Given the description of an element on the screen output the (x, y) to click on. 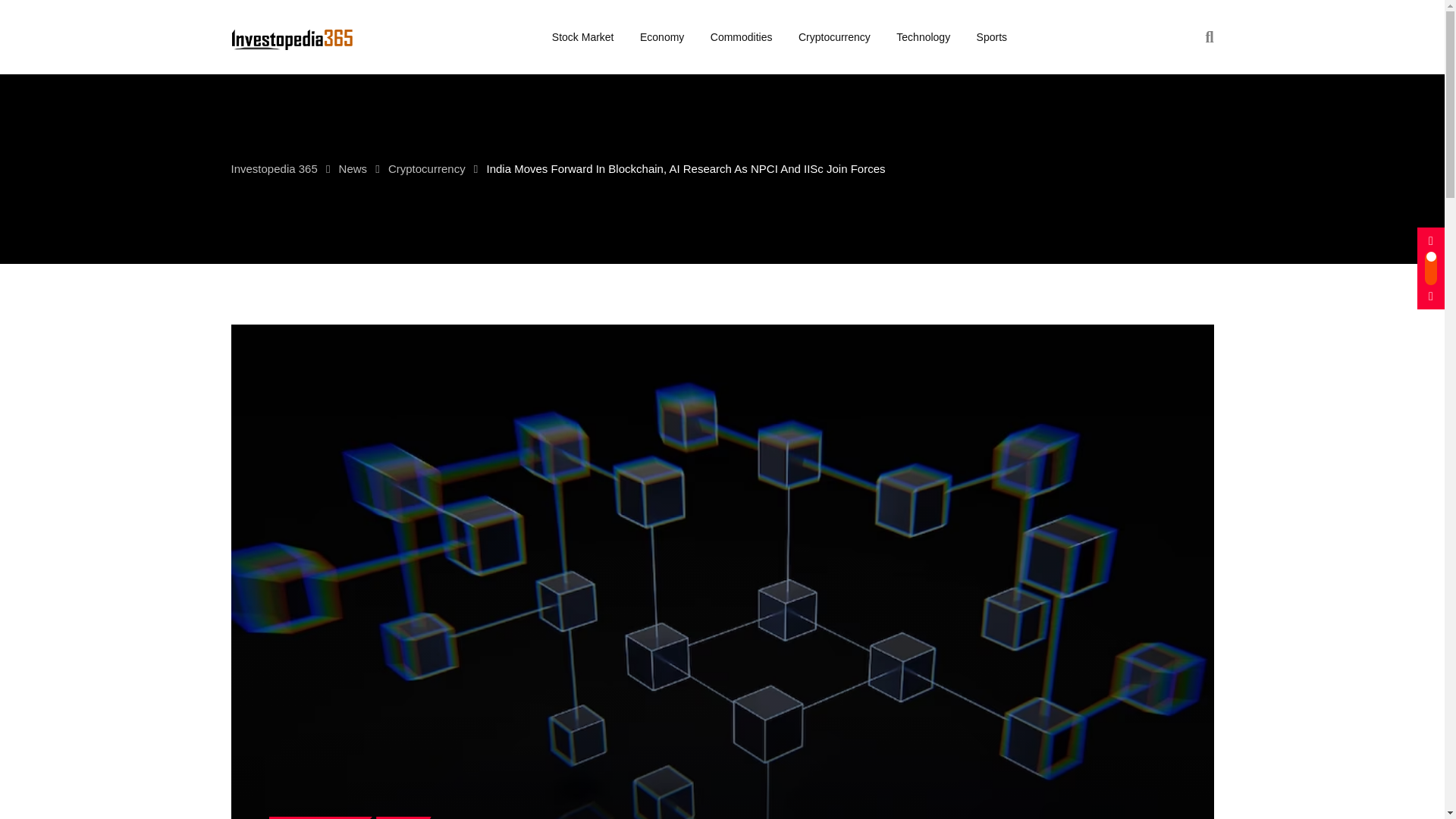
Cryptocurrency (834, 37)
Investopedia 365 (275, 168)
Commodities (741, 37)
News (402, 817)
Stock Market (583, 37)
Cryptocurrency (426, 168)
Technology (922, 37)
Economy (661, 37)
Go to the News Category archives. (353, 168)
Cryptocurrency (319, 817)
Go to the Cryptocurrency Category archives. (426, 168)
Go to Investopedia 365 . (275, 168)
News (353, 168)
